Given the description of an element on the screen output the (x, y) to click on. 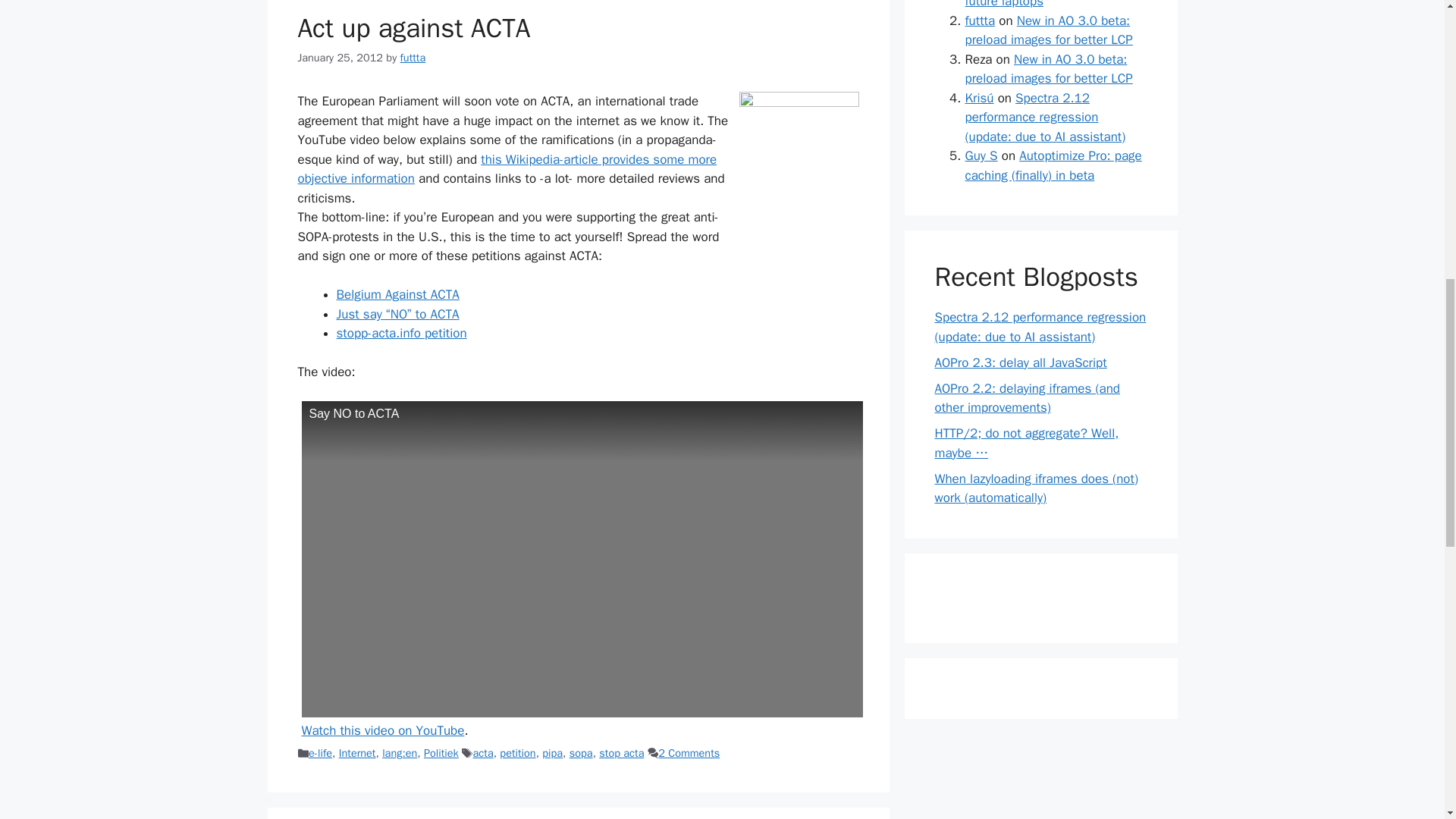
Watch this video on YouTube (382, 730)
lang:en (398, 753)
acta on wikipedia (506, 169)
stopp-acta.info petition (401, 333)
Politiek (440, 753)
Internet (357, 753)
View all posts by futtta (413, 57)
e-life (319, 753)
great image, as found on the web ... (798, 178)
Belgium Against ACTA (398, 294)
stopp-acta.info petition (401, 333)
accessnow.org petition (398, 314)
futtta (413, 57)
